Given the description of an element on the screen output the (x, y) to click on. 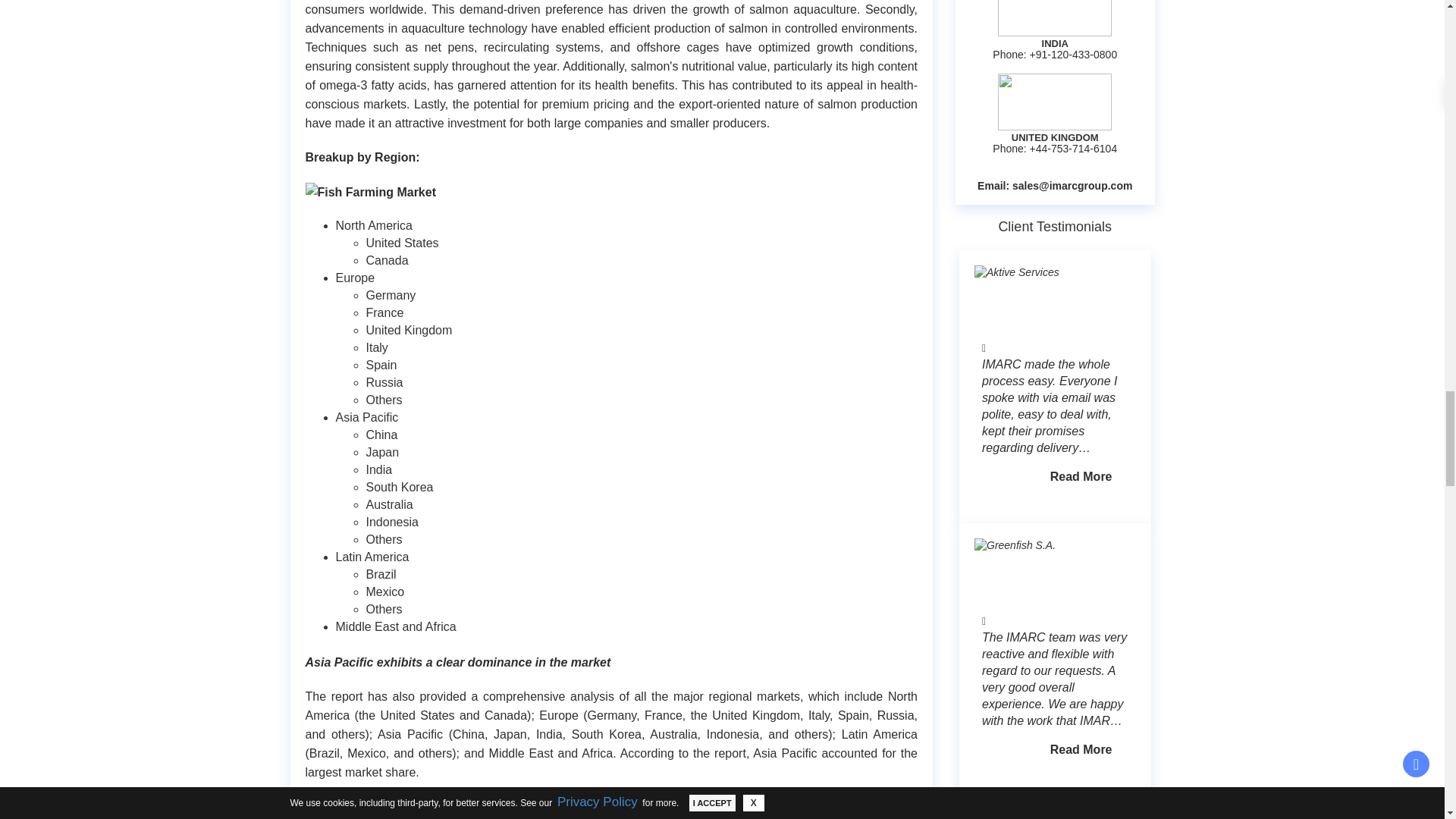
Know more (1081, 549)
Know more (1081, 814)
Know more (1081, 275)
Know more (1081, 8)
